Given the description of an element on the screen output the (x, y) to click on. 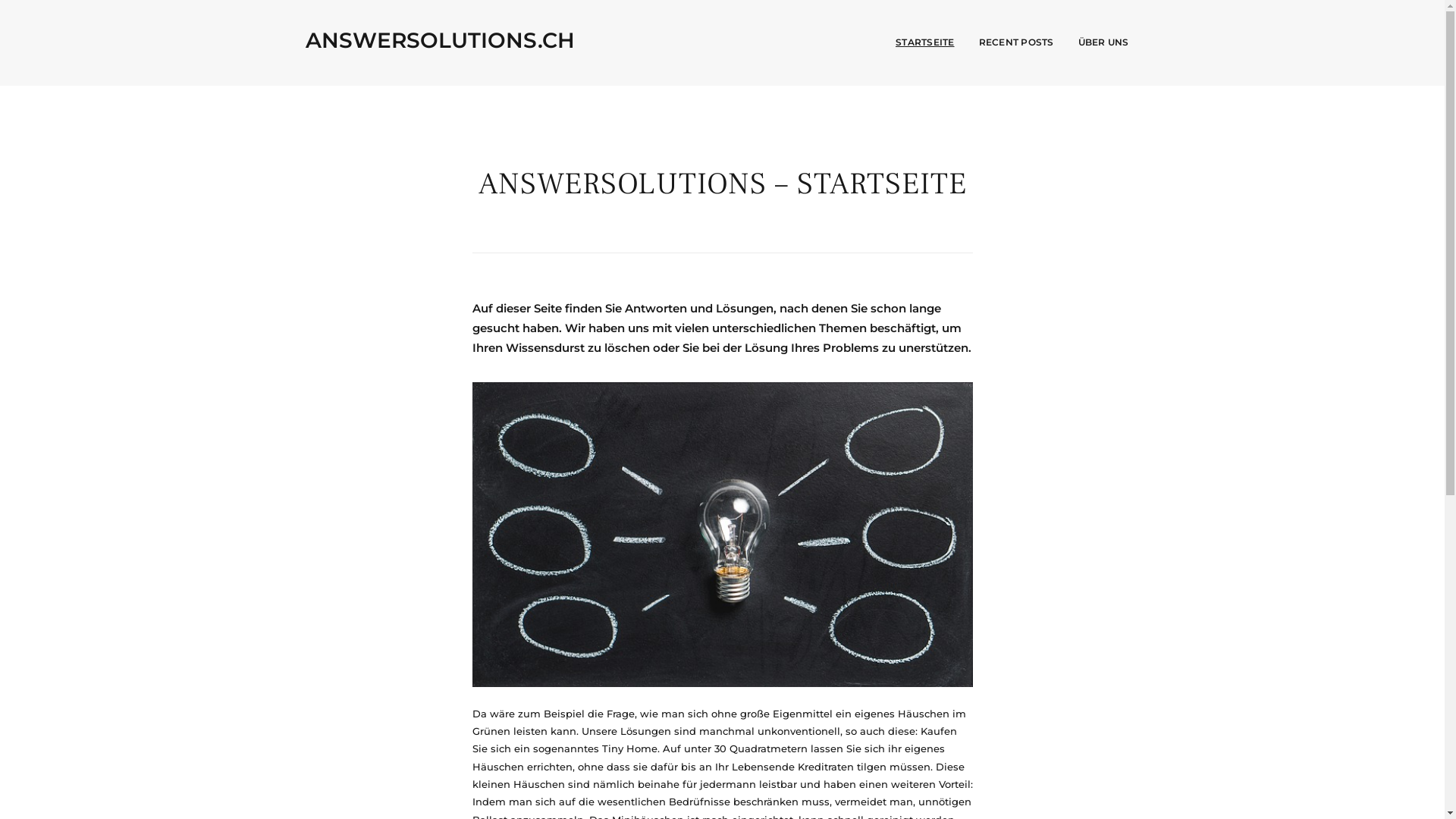
STARTSEITE Element type: text (925, 42)
ANSWERSOLUTIONS.CH Element type: text (439, 40)
RECENT POSTS Element type: text (1015, 42)
